Given the description of an element on the screen output the (x, y) to click on. 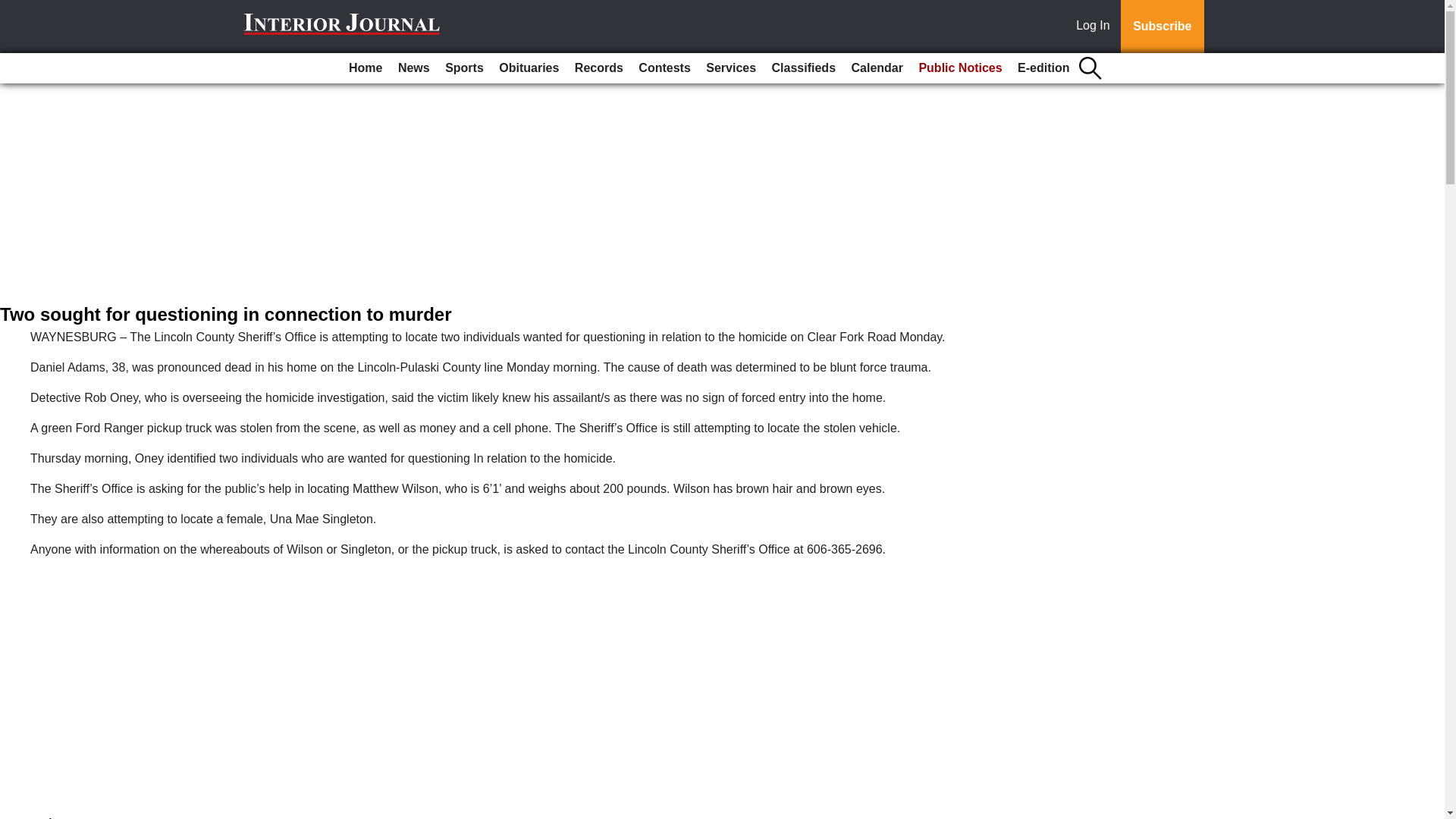
Public Notices (959, 68)
Calendar (876, 68)
News (413, 68)
Obituaries (528, 68)
Log In (1095, 26)
Contests (663, 68)
Home (365, 68)
Sports (464, 68)
Services (730, 68)
Classifieds (803, 68)
Records (598, 68)
Go (13, 9)
E-edition (1043, 68)
Subscribe (1162, 26)
